Given the description of an element on the screen output the (x, y) to click on. 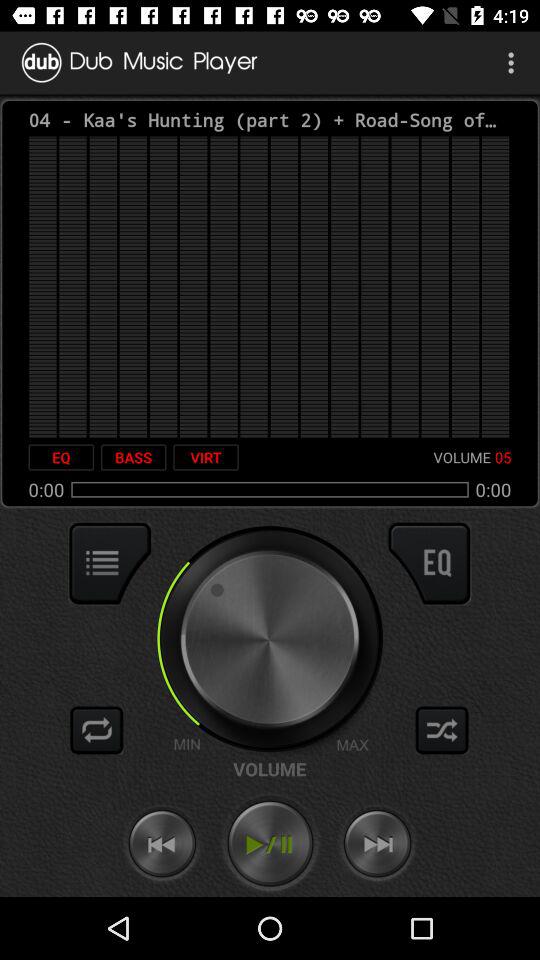
replay (97, 730)
